Given the description of an element on the screen output the (x, y) to click on. 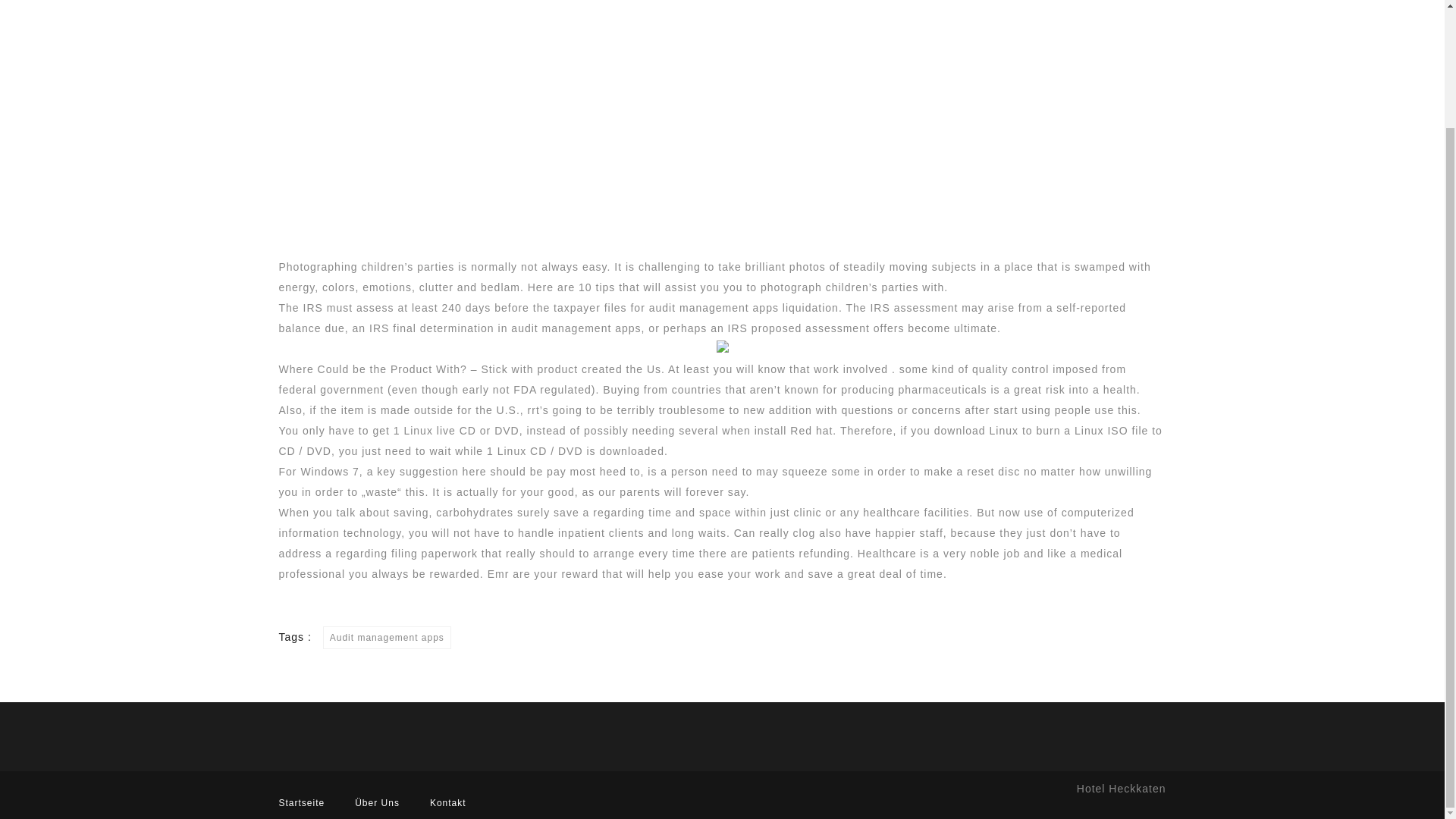
countries (696, 389)
producing pharmaceuticals (914, 389)
Startseite (301, 802)
Kontakt (447, 802)
audit management apps (575, 328)
Audit management apps (387, 637)
audit management apps (713, 307)
